Given the description of an element on the screen output the (x, y) to click on. 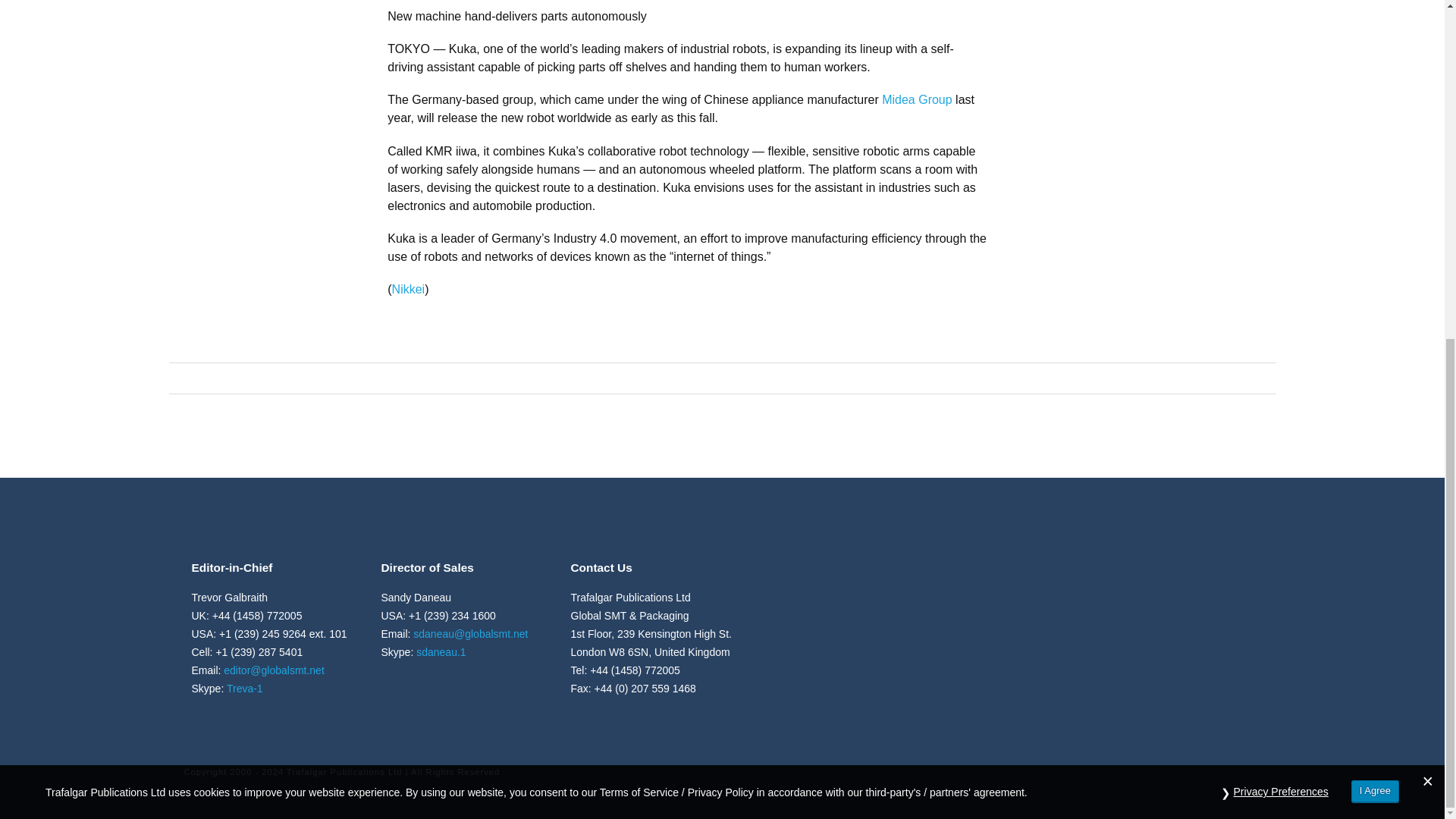
Nikkei (408, 288)
Midea Group (917, 99)
Treva-1 (245, 688)
Privacy Preferences (1280, 218)
I Agree (1375, 218)
sdaneau.1 (440, 652)
